Given the description of an element on the screen output the (x, y) to click on. 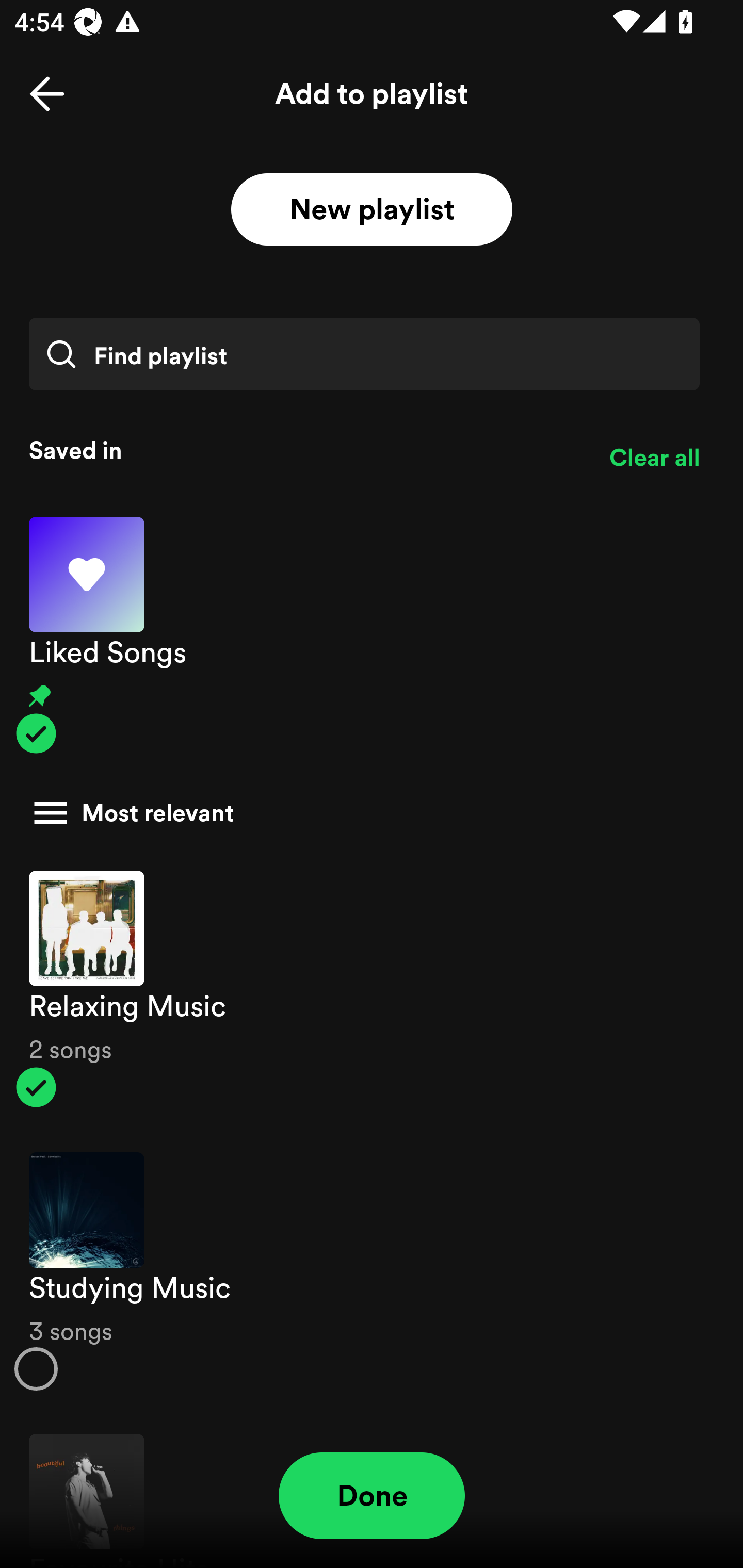
Back (46, 93)
New playlist (371, 210)
Find playlist (363, 354)
Saved in (304, 449)
Clear all (654, 457)
Liked Songs Pinned (371, 635)
Most relevant (363, 812)
Relaxing Music 2 songs (371, 989)
Studying Music 3 songs (371, 1271)
Favourite Hits (371, 1490)
Done (371, 1495)
